Given the description of an element on the screen output the (x, y) to click on. 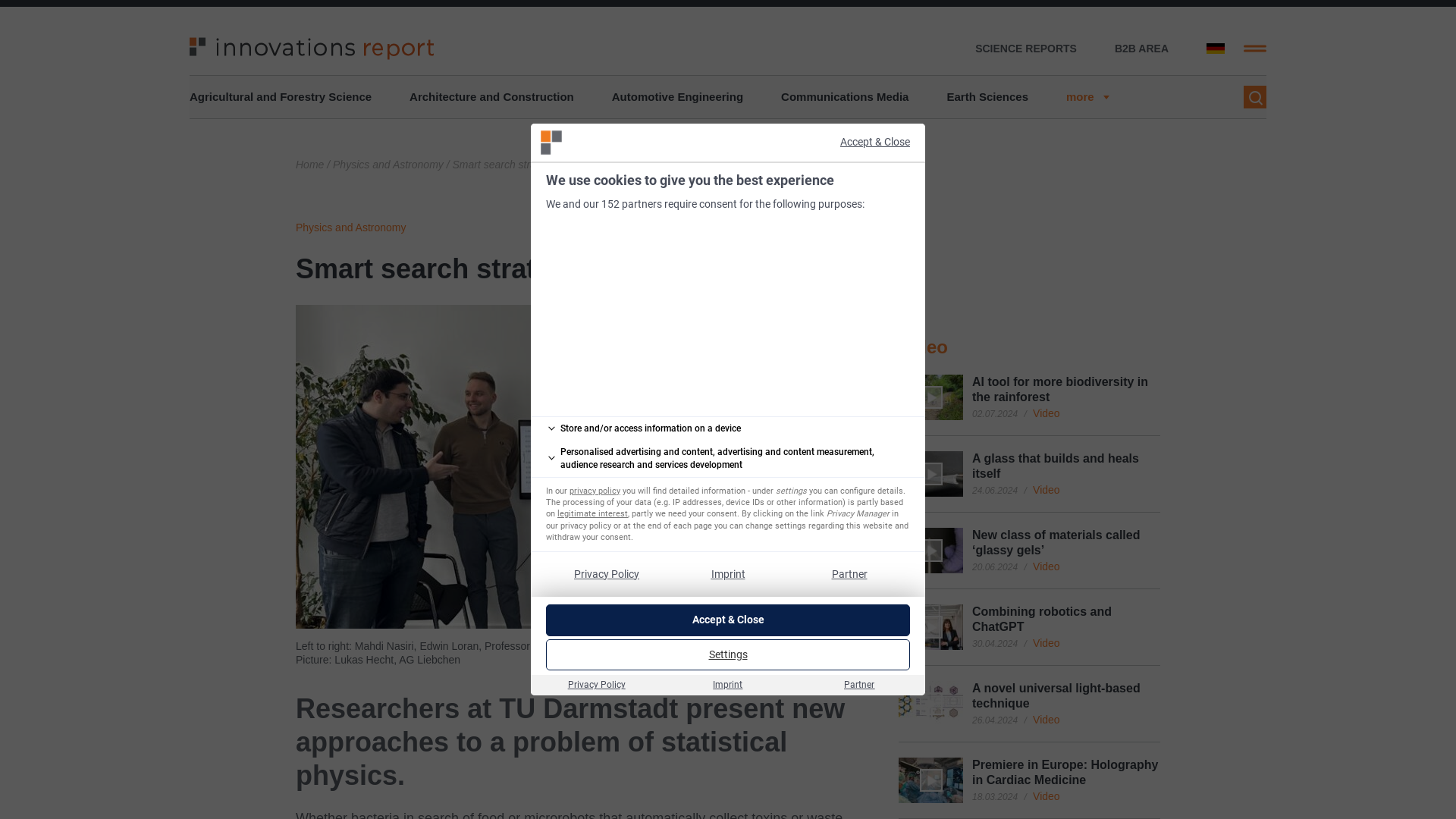
Communications Media (844, 96)
Agricultural and Forestry Science (280, 96)
Earth Sciences (986, 96)
Automotive Engineering (676, 96)
SCIENCE REPORTS (1026, 48)
B2B AREA (1142, 48)
Architecture and Construction (491, 96)
